Given the description of an element on the screen output the (x, y) to click on. 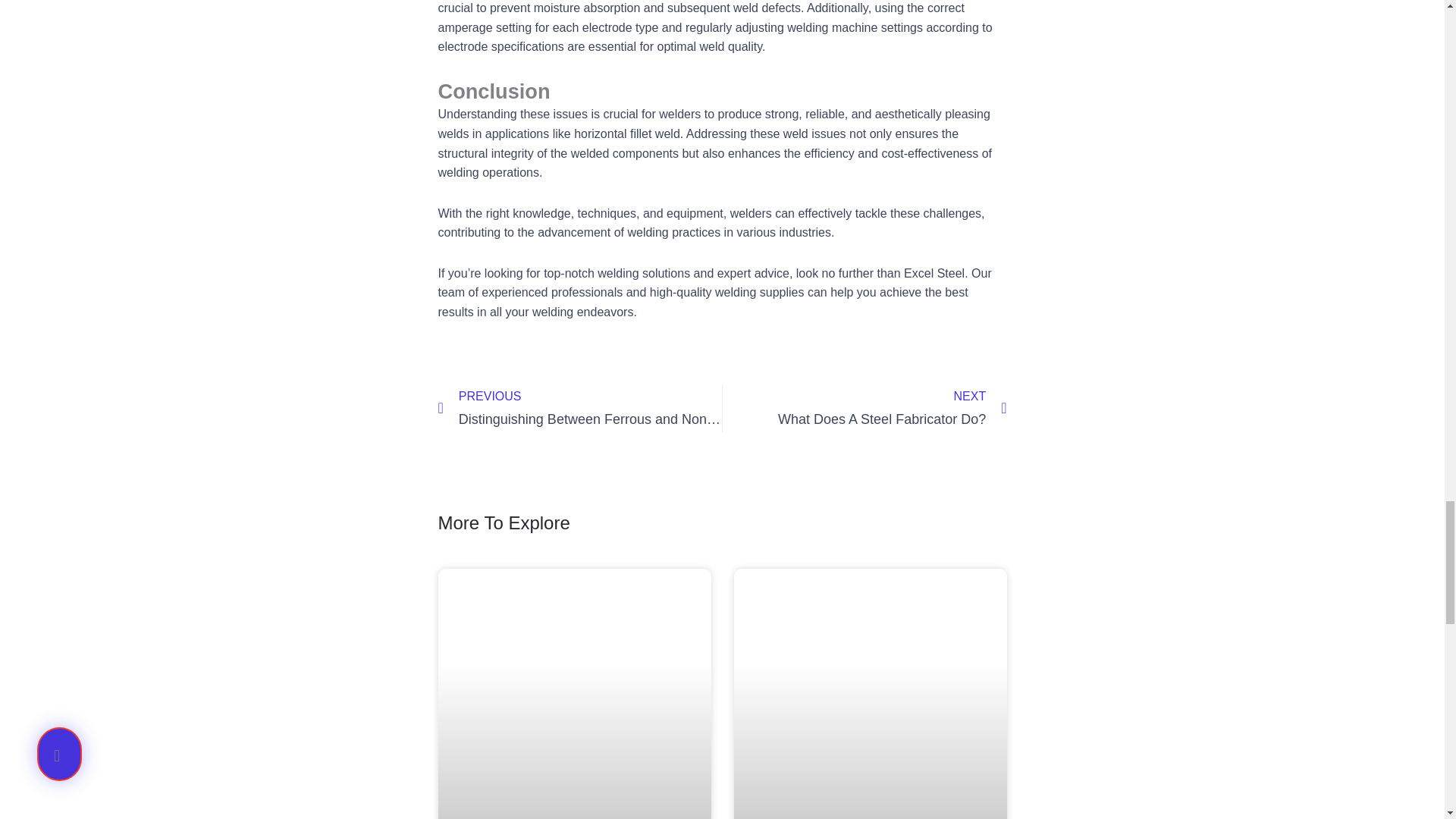
Excel Steel (864, 408)
